Given the description of an element on the screen output the (x, y) to click on. 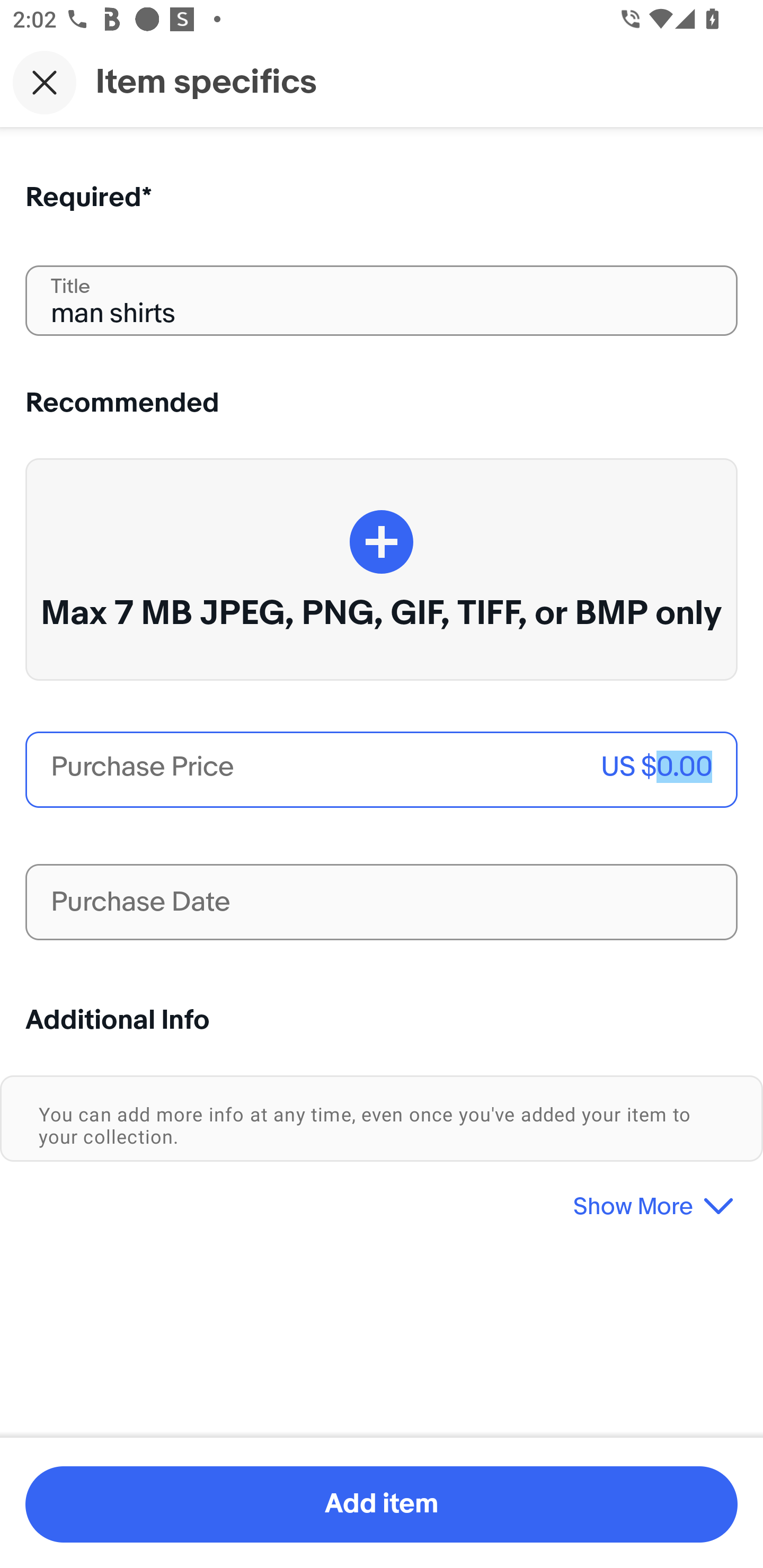
Close (44, 82)
man shirts (381, 299)
Max 7 MB JPEG, PNG, GIF, TIFF, or BMP only (381, 568)
US $0.00Purchase Price U S $0.0 (381, 769)
Purchase Date (381, 901)
Show More (381, 1199)
Add item (381, 1504)
